Given the description of an element on the screen output the (x, y) to click on. 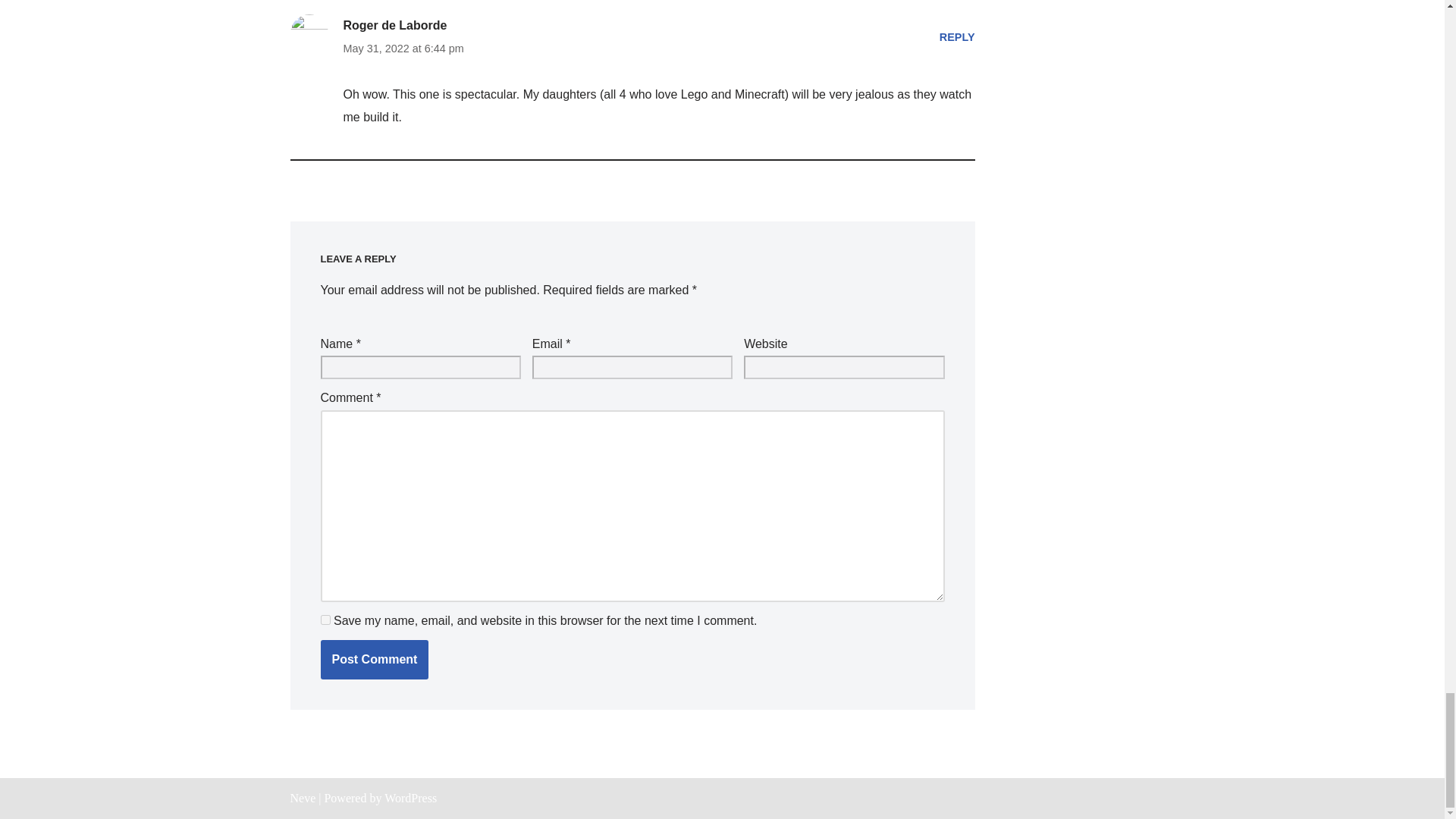
REPLY (957, 37)
May 31, 2022 at 6:44 pm (402, 47)
WordPress (410, 797)
Neve (302, 797)
Post Comment (374, 659)
Post Comment (374, 659)
yes (325, 619)
